Given the description of an element on the screen output the (x, y) to click on. 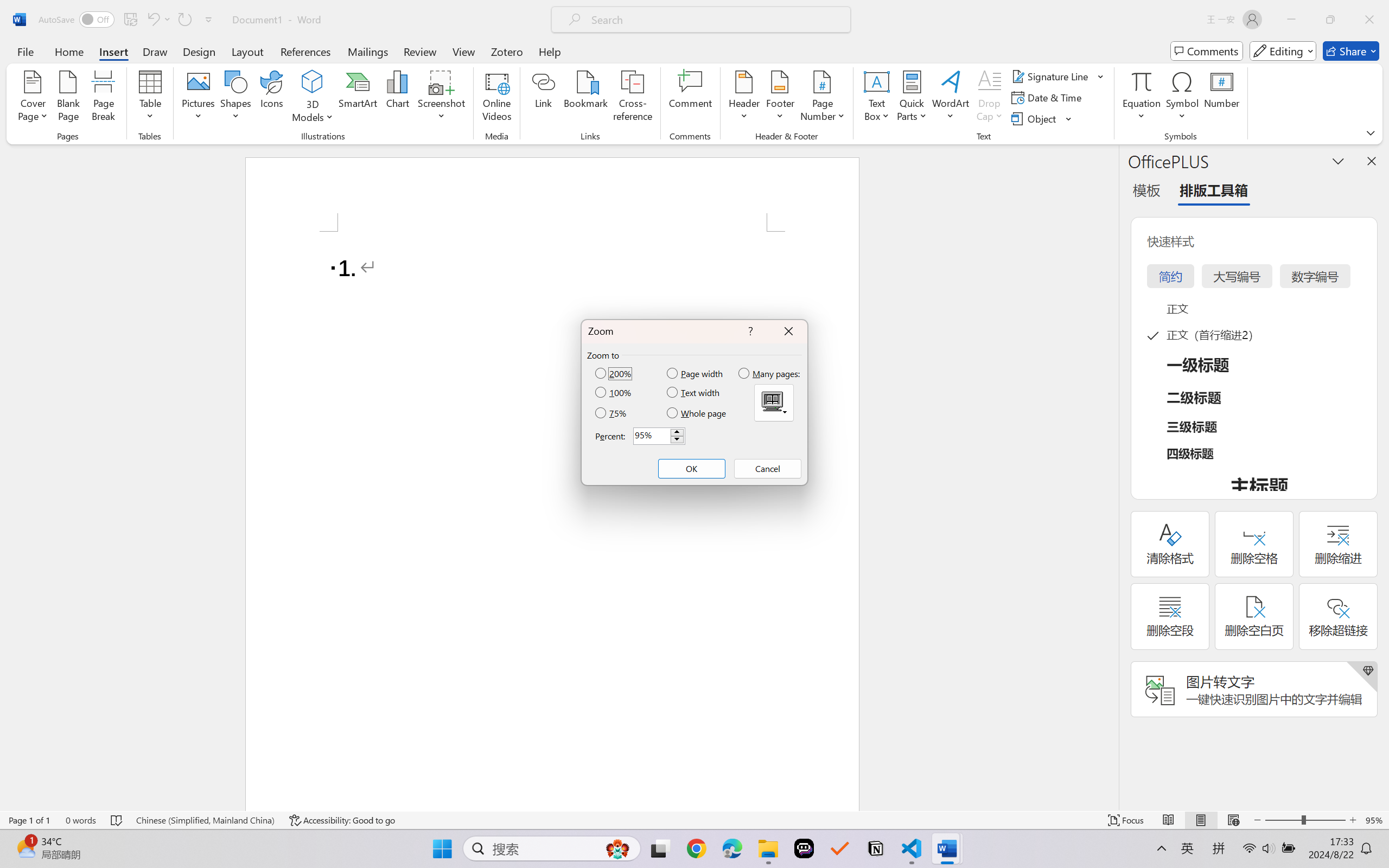
Repeat Doc Close (184, 19)
RichEdit Control (651, 435)
